Given the description of an element on the screen output the (x, y) to click on. 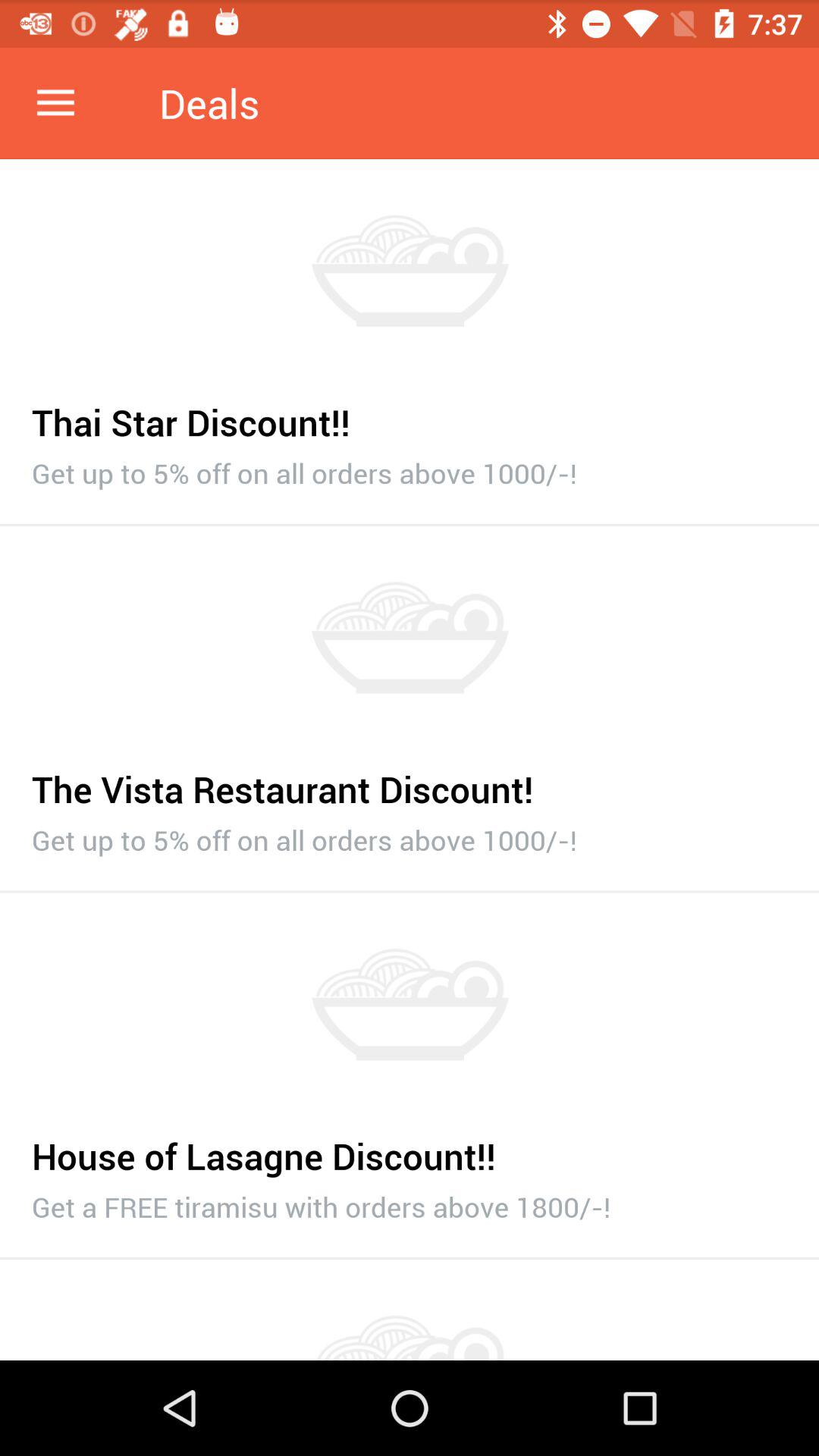
open item above the get up to item (409, 414)
